Given the description of an element on the screen output the (x, y) to click on. 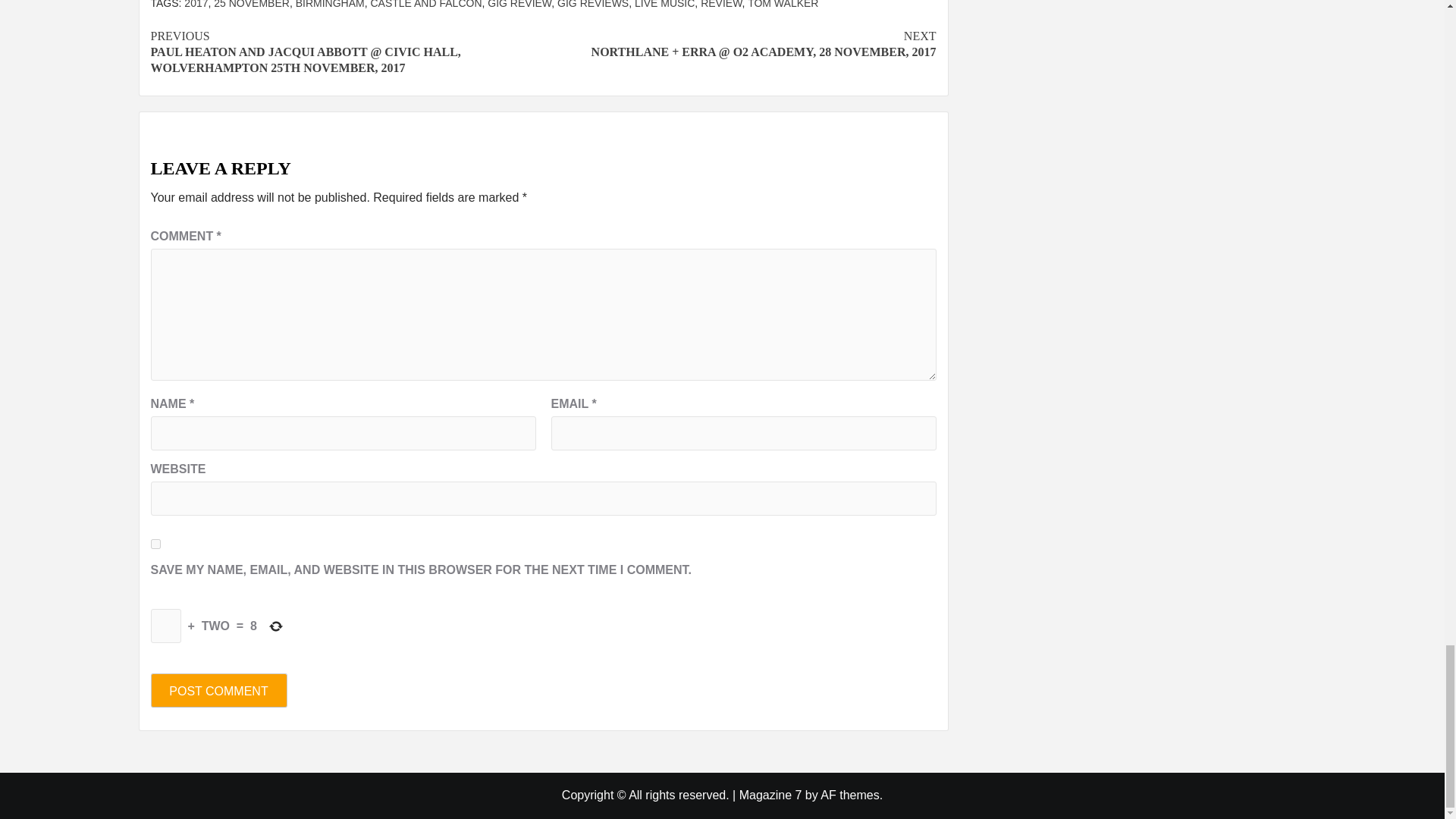
BIRMINGHAM (330, 4)
REVIEW (720, 4)
GIG REVIEWS (592, 4)
2017 (196, 4)
LIVE MUSIC (664, 4)
Post Comment (217, 690)
25 NOVEMBER (251, 4)
CASTLE AND FALCON (425, 4)
TOM WALKER (783, 4)
Post Comment (217, 690)
